Given the description of an element on the screen output the (x, y) to click on. 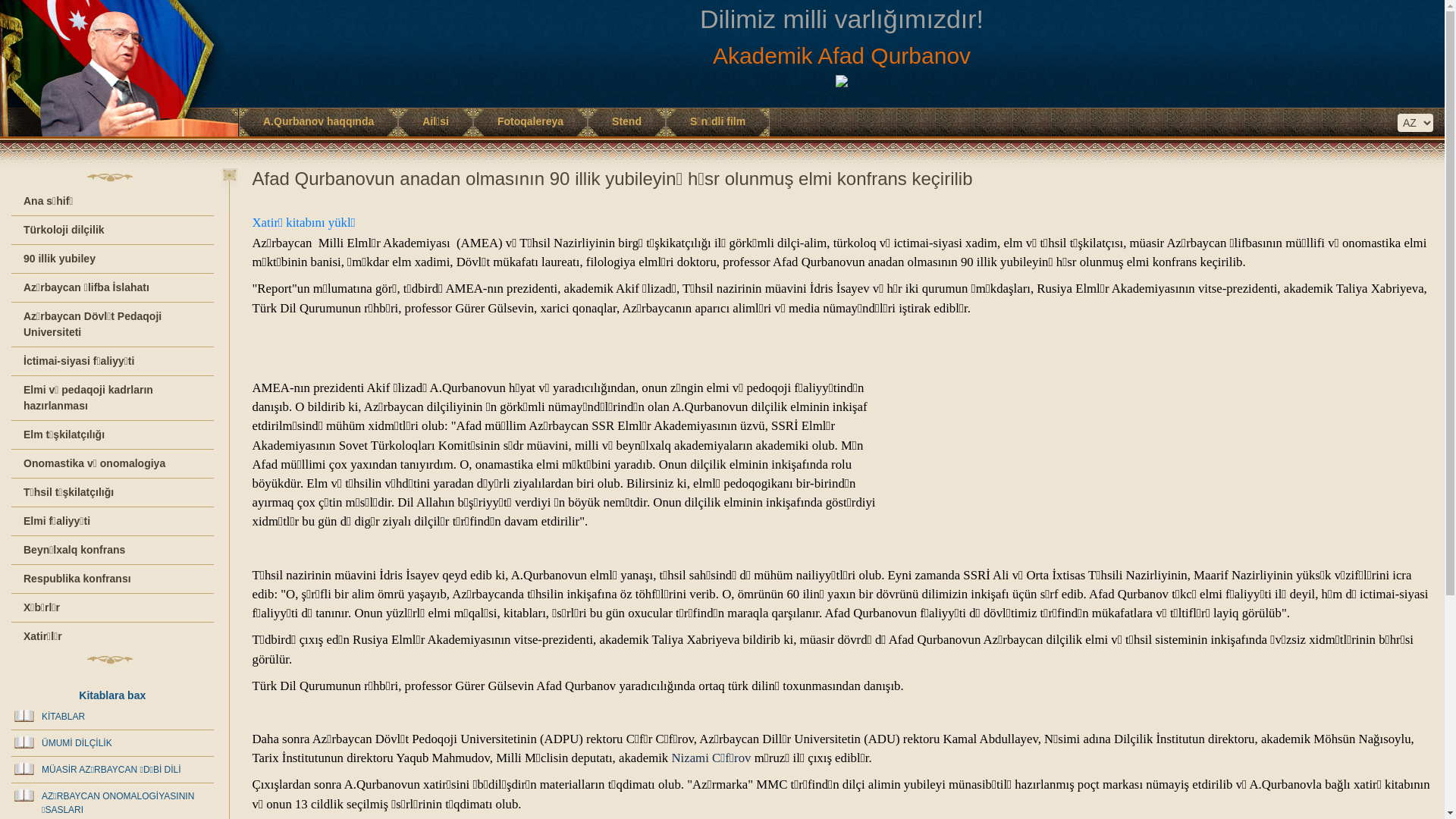
Fotoqalereya Element type: text (530, 121)
90 illik yubiley Element type: text (112, 258)
Stend Element type: text (626, 121)
